Given the description of an element on the screen output the (x, y) to click on. 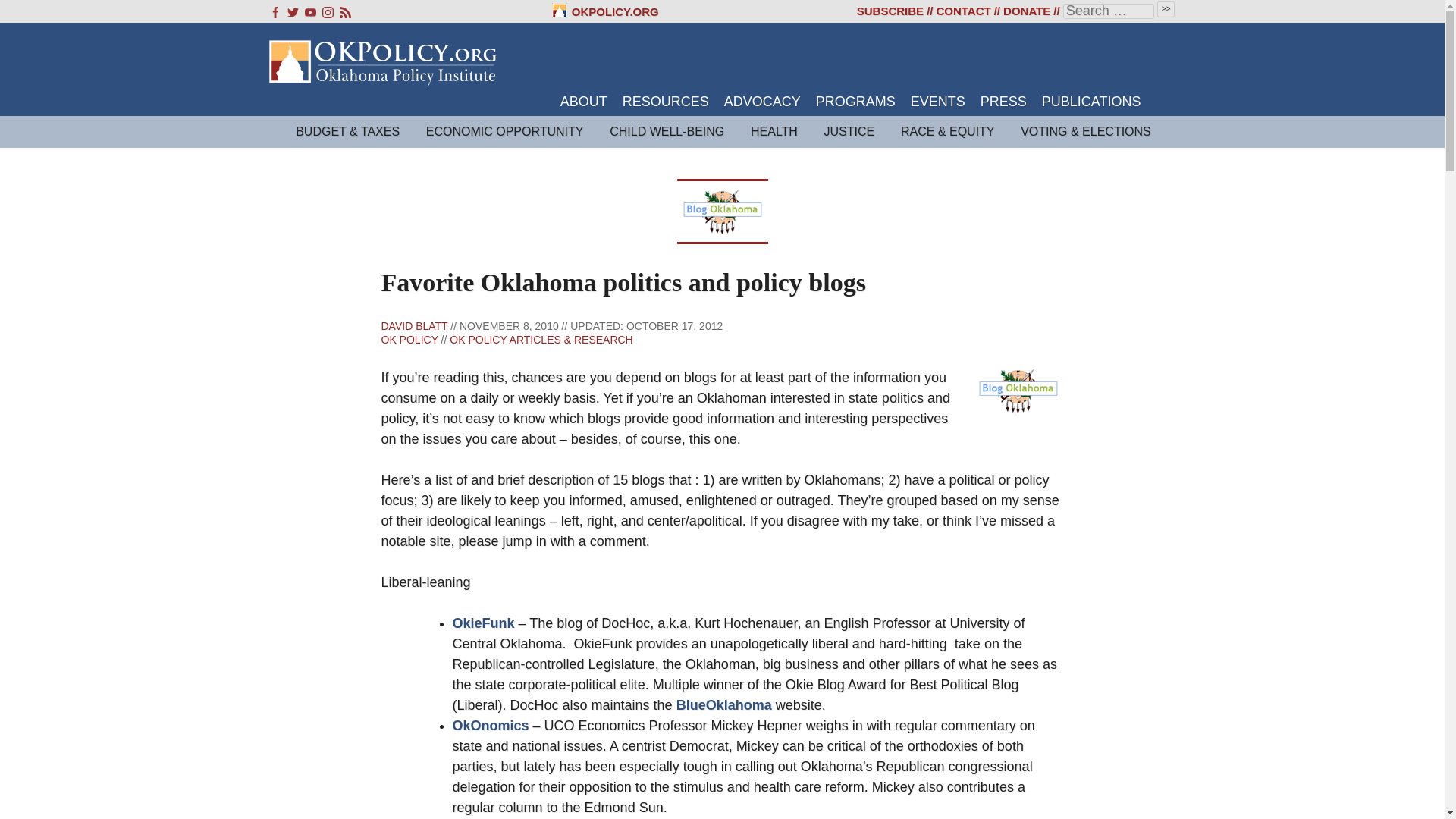
DONATE (1026, 10)
PROGRAMS (855, 101)
blogOklahoma (1017, 390)
SUBSCRIBE (890, 10)
CONTACT (963, 10)
ABOUT (583, 101)
EVENTS (938, 101)
ADVOCACY (761, 101)
RESOURCES (666, 101)
OKPOLICY.ORG (605, 11)
PRESS (1002, 101)
